Given the description of an element on the screen output the (x, y) to click on. 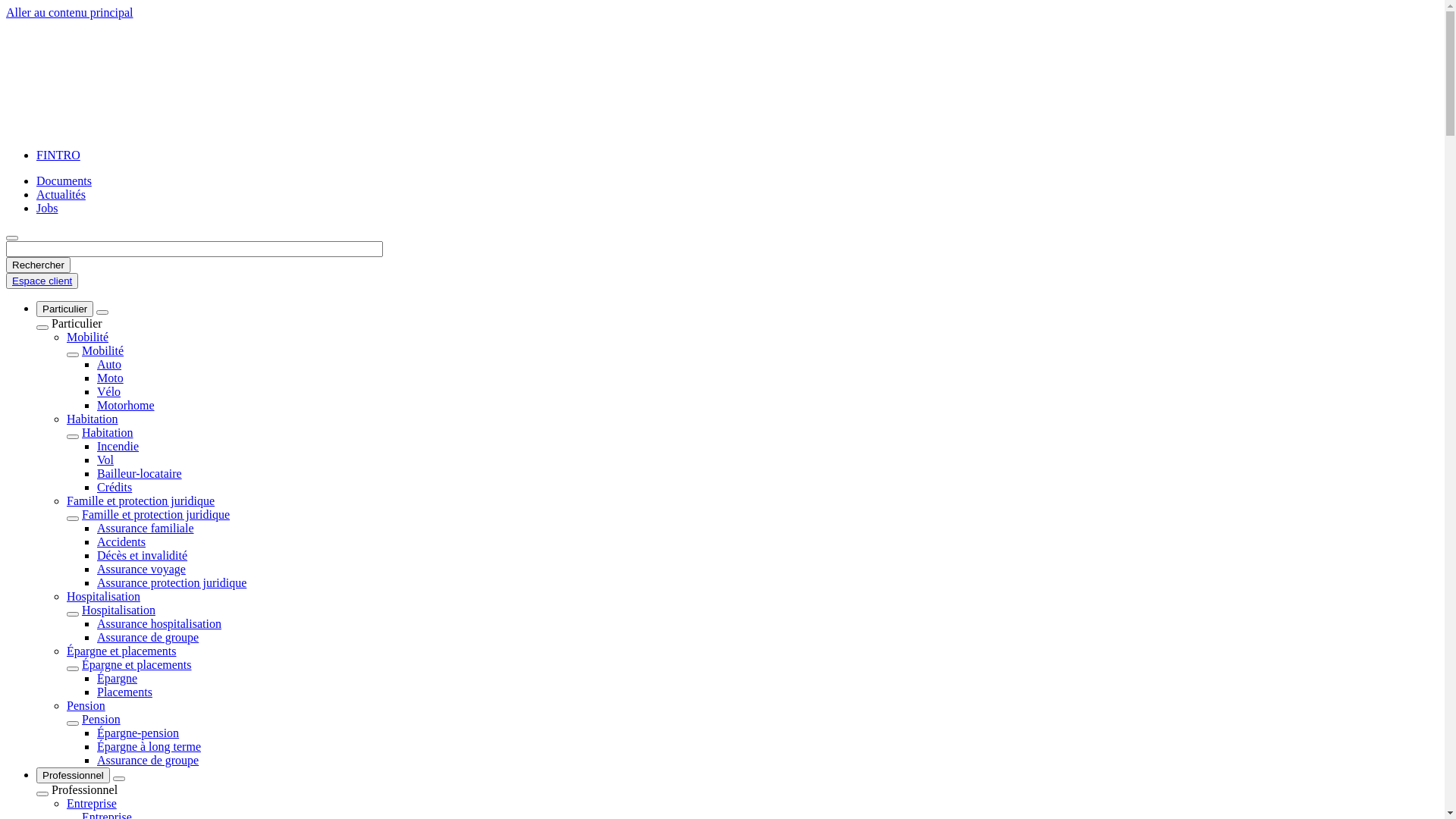
Pension Element type: text (100, 718)
Espace client Element type: text (42, 280)
Auto Element type: text (109, 363)
Entreprise Element type: text (91, 803)
Incendie Element type: text (117, 445)
Moto Element type: text (110, 377)
Vol Element type: text (105, 459)
Habitation Element type: text (107, 432)
Hospitalisation Element type: text (118, 609)
Documents Element type: text (63, 180)
Assurance de groupe Element type: text (147, 759)
Hospitalisation Element type: text (103, 595)
FINTRO Element type: text (58, 154)
Assurance hospitalisation Element type: text (159, 623)
Particulier Element type: text (64, 308)
Professionnel Element type: text (72, 775)
Jobs Element type: text (46, 207)
Assurance protection juridique Element type: text (171, 582)
Espace client Element type: text (42, 280)
Assurance voyage Element type: text (141, 568)
Rechercher Element type: text (38, 265)
Motorhome Element type: text (125, 404)
Bailleur-locataire Element type: text (139, 473)
Habitation Element type: text (92, 418)
Accidents Element type: text (121, 541)
Aller au contenu principal Element type: text (69, 12)
Assurance familiale Element type: text (145, 527)
Assurance de groupe Element type: text (147, 636)
Placements Element type: text (124, 691)
Pension Element type: text (85, 705)
Famille et protection juridique Element type: text (140, 500)
Famille et protection juridique Element type: text (155, 514)
